Given the description of an element on the screen output the (x, y) to click on. 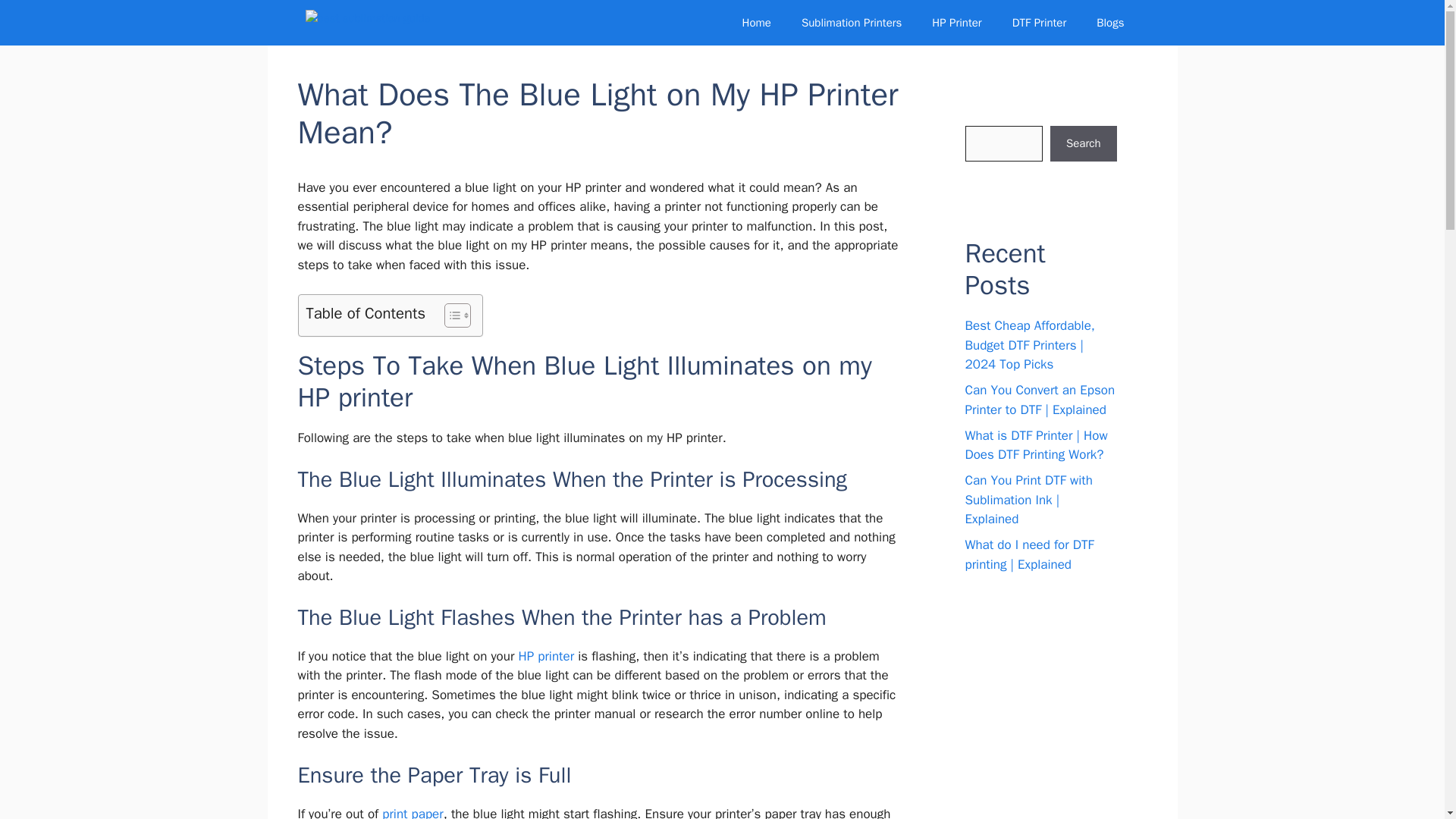
DTF Printer (1039, 22)
Search (1082, 144)
HP Printer (956, 22)
print paper (411, 812)
Blogs (1109, 22)
Sublimation Printers (851, 22)
HP printer (545, 656)
best sublimation guide (370, 22)
Home (756, 22)
